Given the description of an element on the screen output the (x, y) to click on. 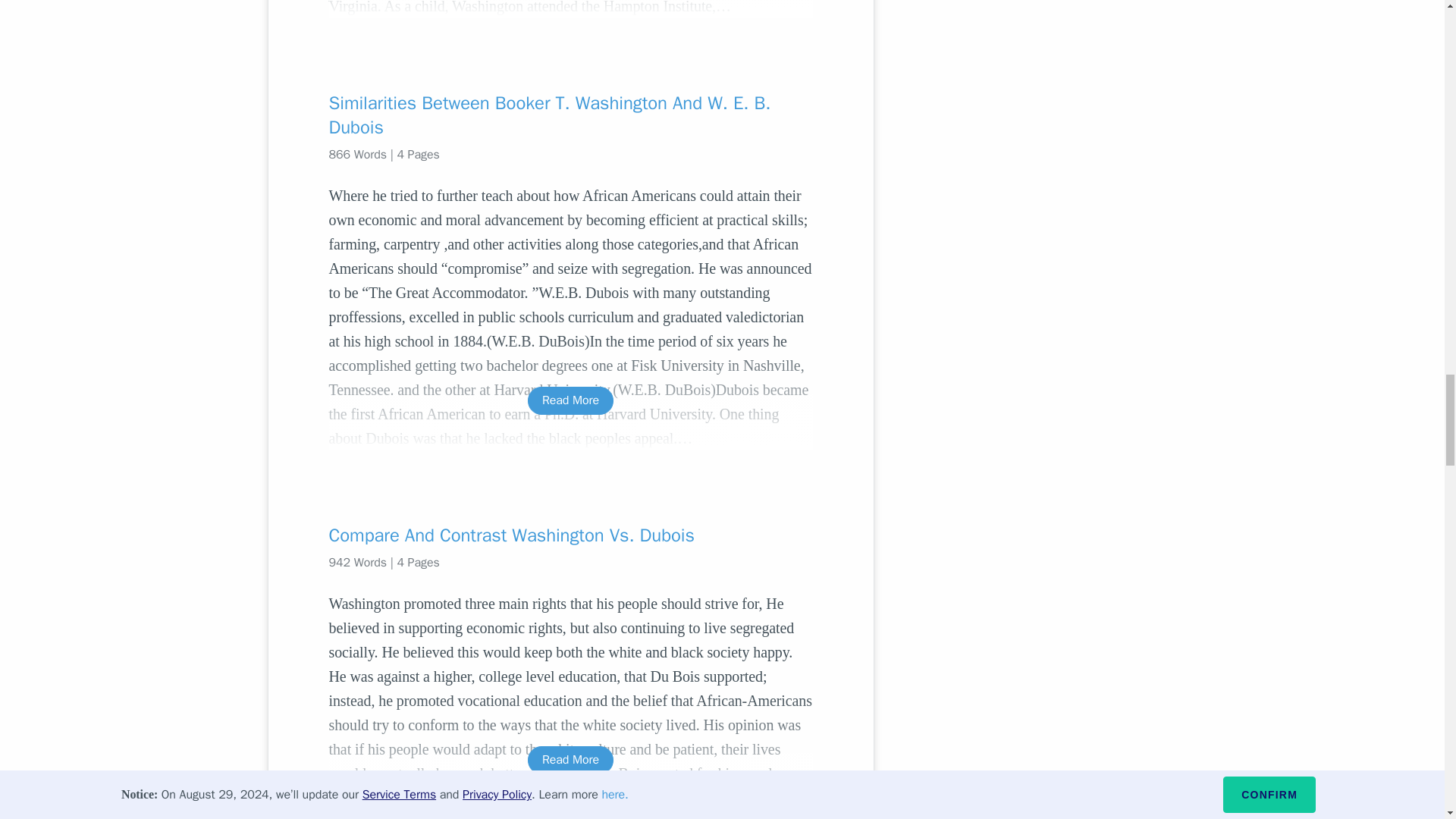
Read More (569, 400)
Read More (569, 759)
Compare And Contrast Washington Vs. Dubois (570, 535)
